Given the description of an element on the screen output the (x, y) to click on. 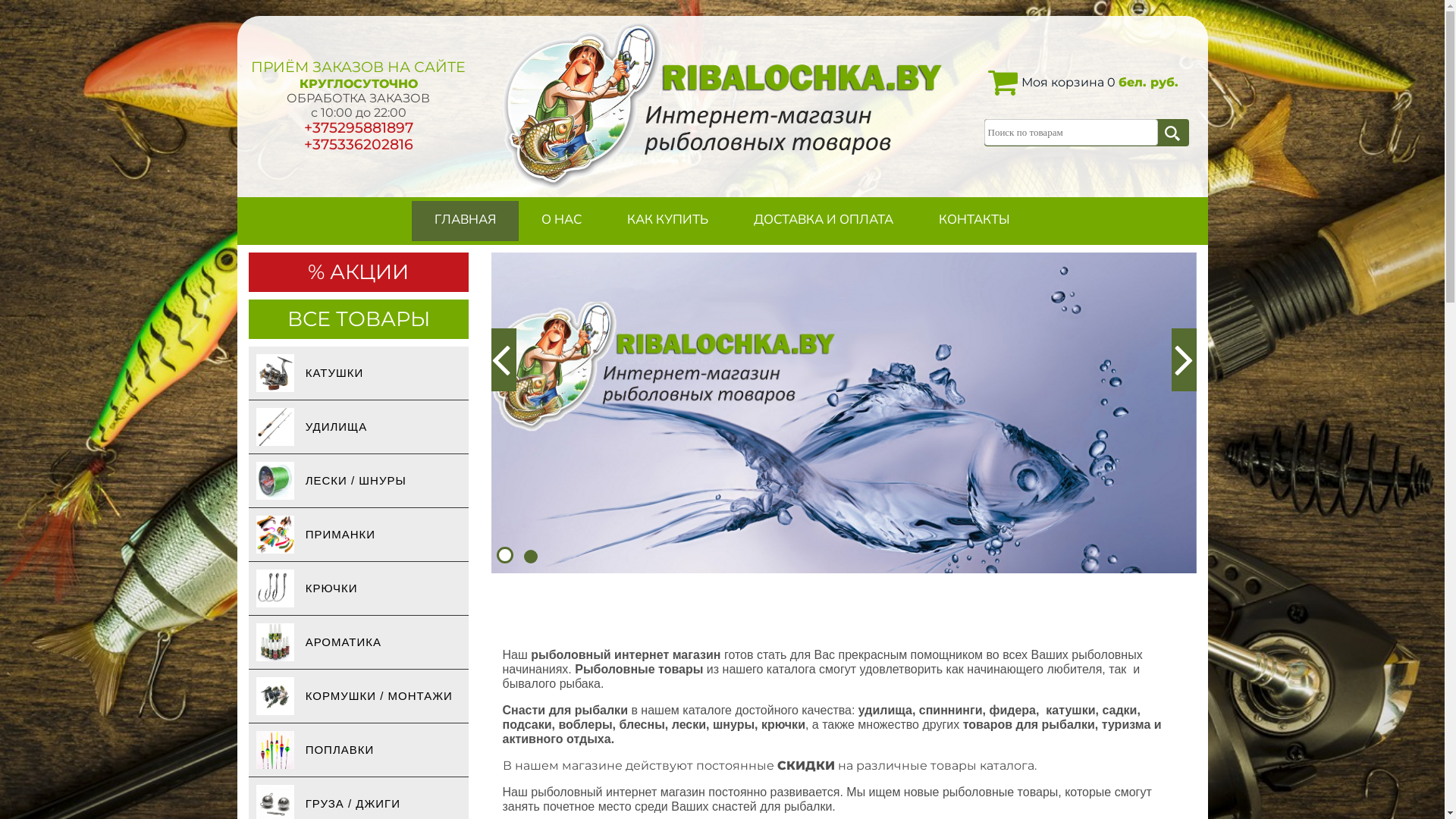
+375336202816 Element type: text (357, 144)
+375295881897 Element type: text (357, 127)
  Element type: text (503, 359)
